Given the description of an element on the screen output the (x, y) to click on. 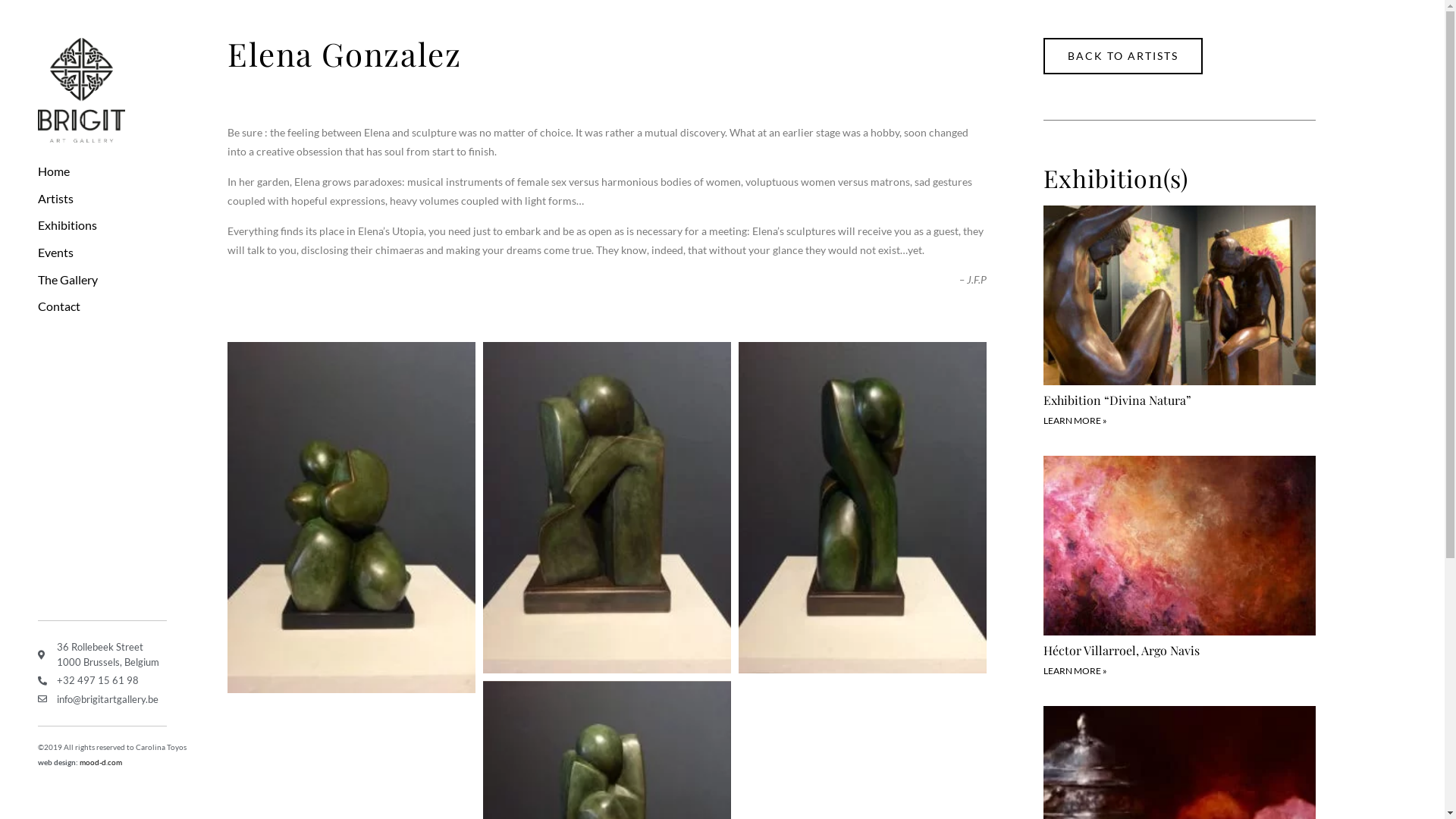
Artists Element type: text (113, 198)
mood-d.com Element type: text (100, 761)
Exhibitions Element type: text (113, 224)
36 Rollebeek Street
1000 Brussels, Belgium Element type: text (113, 654)
Home Element type: text (113, 171)
Contact Element type: text (113, 306)
The Gallery Element type: text (113, 279)
BACK TO ARTISTS Element type: text (1122, 55)
info@brigitartgallery.be Element type: text (113, 699)
+32 497 15 61 98 Element type: text (113, 680)
Events Element type: text (113, 252)
